Given the description of an element on the screen output the (x, y) to click on. 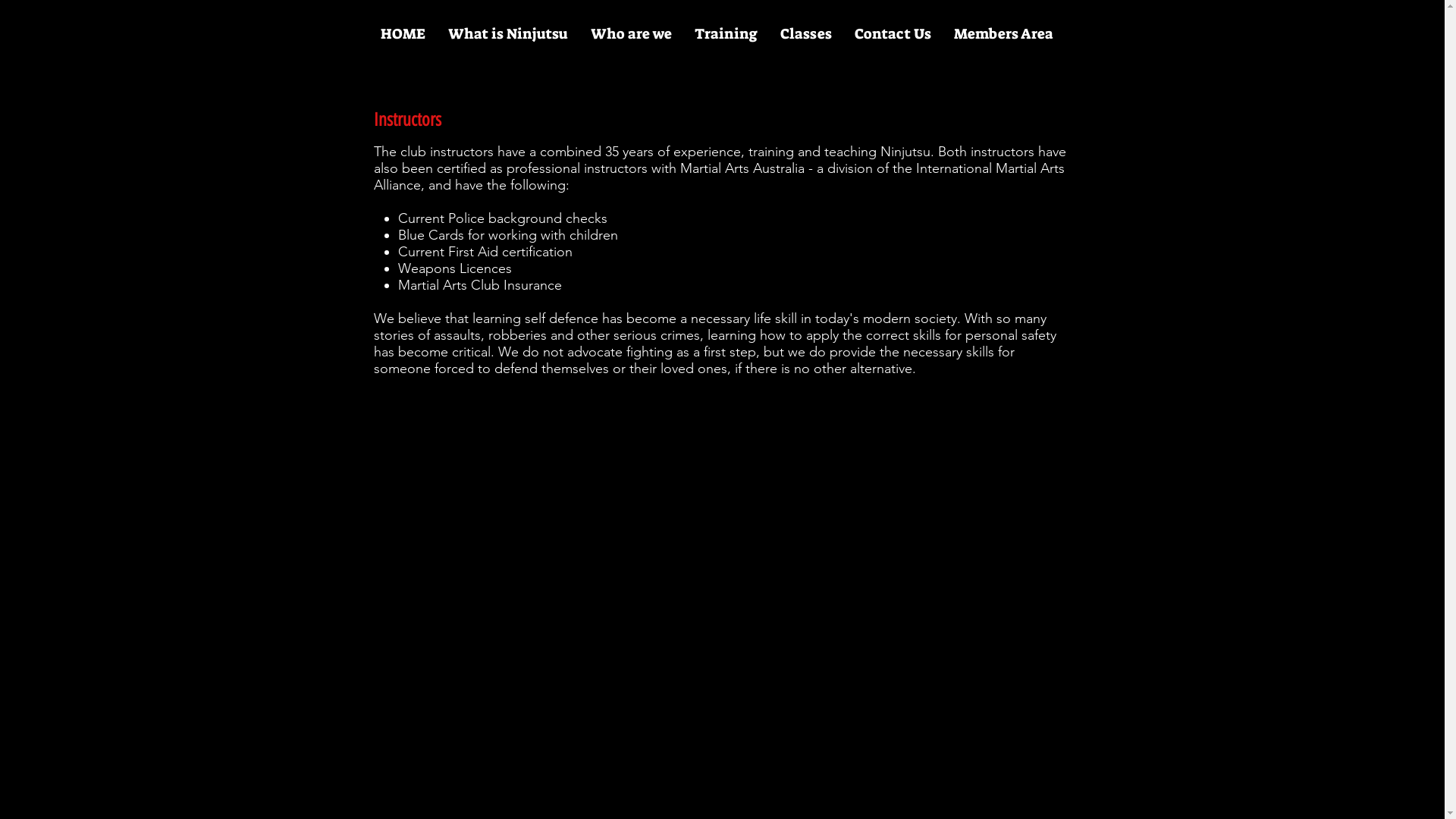
Who are we Element type: text (631, 34)
HOME Element type: text (402, 34)
Training Element type: text (725, 34)
What is Ninjutsu Element type: text (507, 34)
Classes Element type: text (805, 34)
Members Area Element type: text (1002, 34)
Contact Us Element type: text (892, 34)
